Given the description of an element on the screen output the (x, y) to click on. 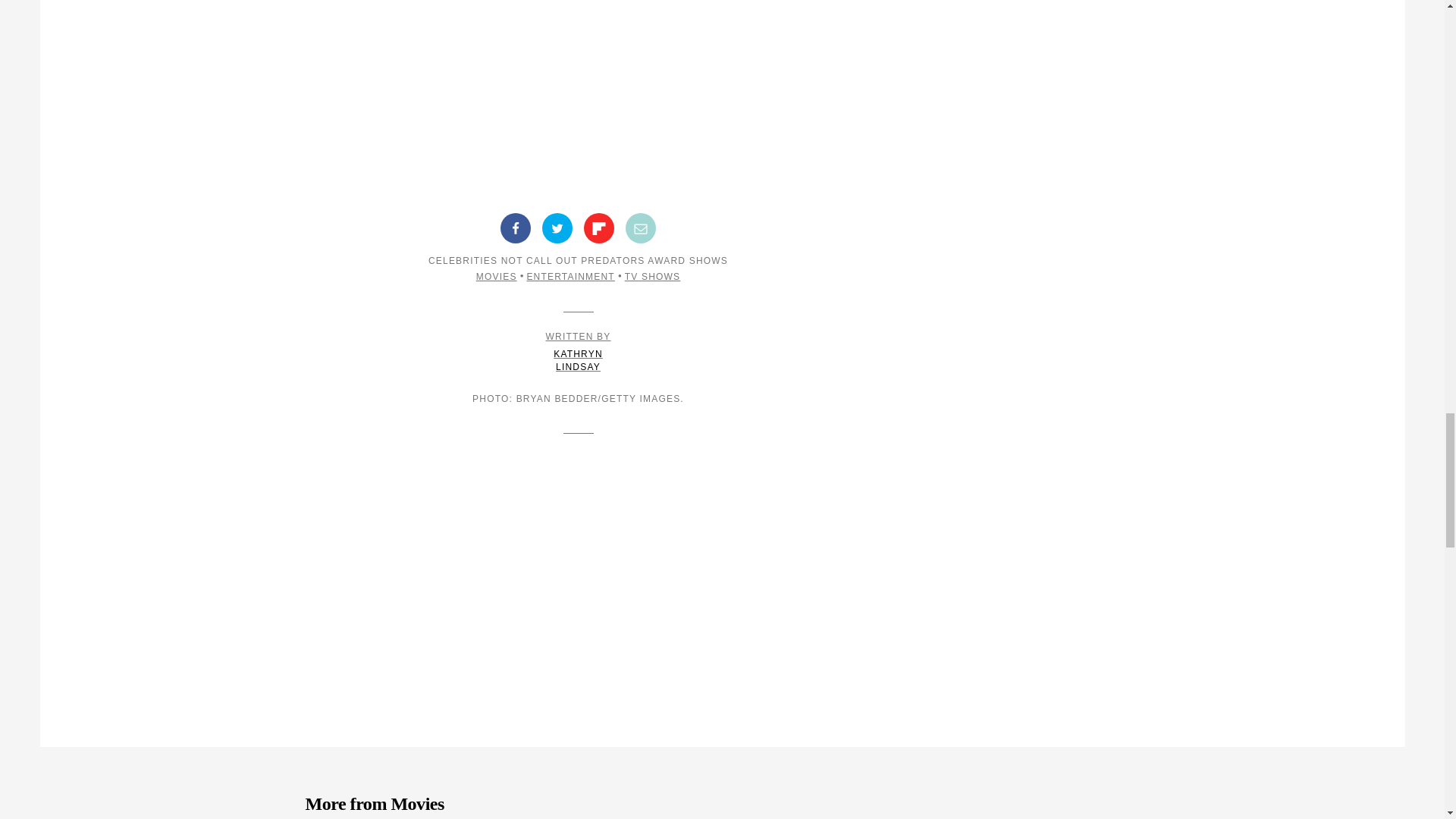
Share on Twitter (556, 227)
TV SHOWS (577, 352)
ENTERTAINMENT (652, 276)
Share by Email (569, 276)
Share on Flipboard (641, 227)
MOVIES (598, 227)
